Given the description of an element on the screen output the (x, y) to click on. 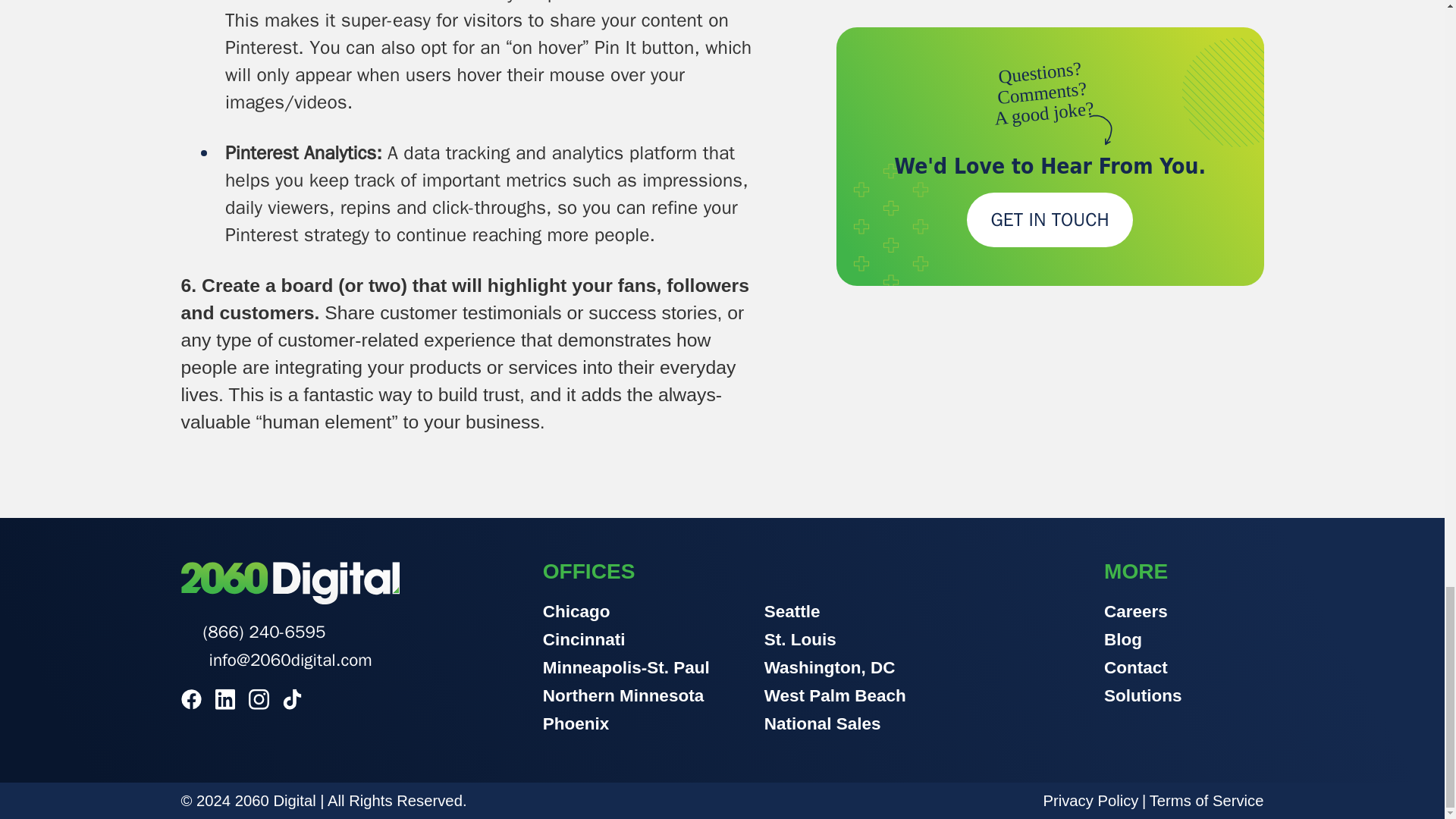
St. Louis (834, 643)
Blog (1142, 643)
Washington, DC (834, 671)
Cincinnati (626, 643)
Phoenix (626, 727)
Careers (1142, 615)
Minneapolis-St. Paul (626, 671)
Contact (1142, 671)
National Sales (834, 727)
Northern Minnesota (626, 699)
